Given the description of an element on the screen output the (x, y) to click on. 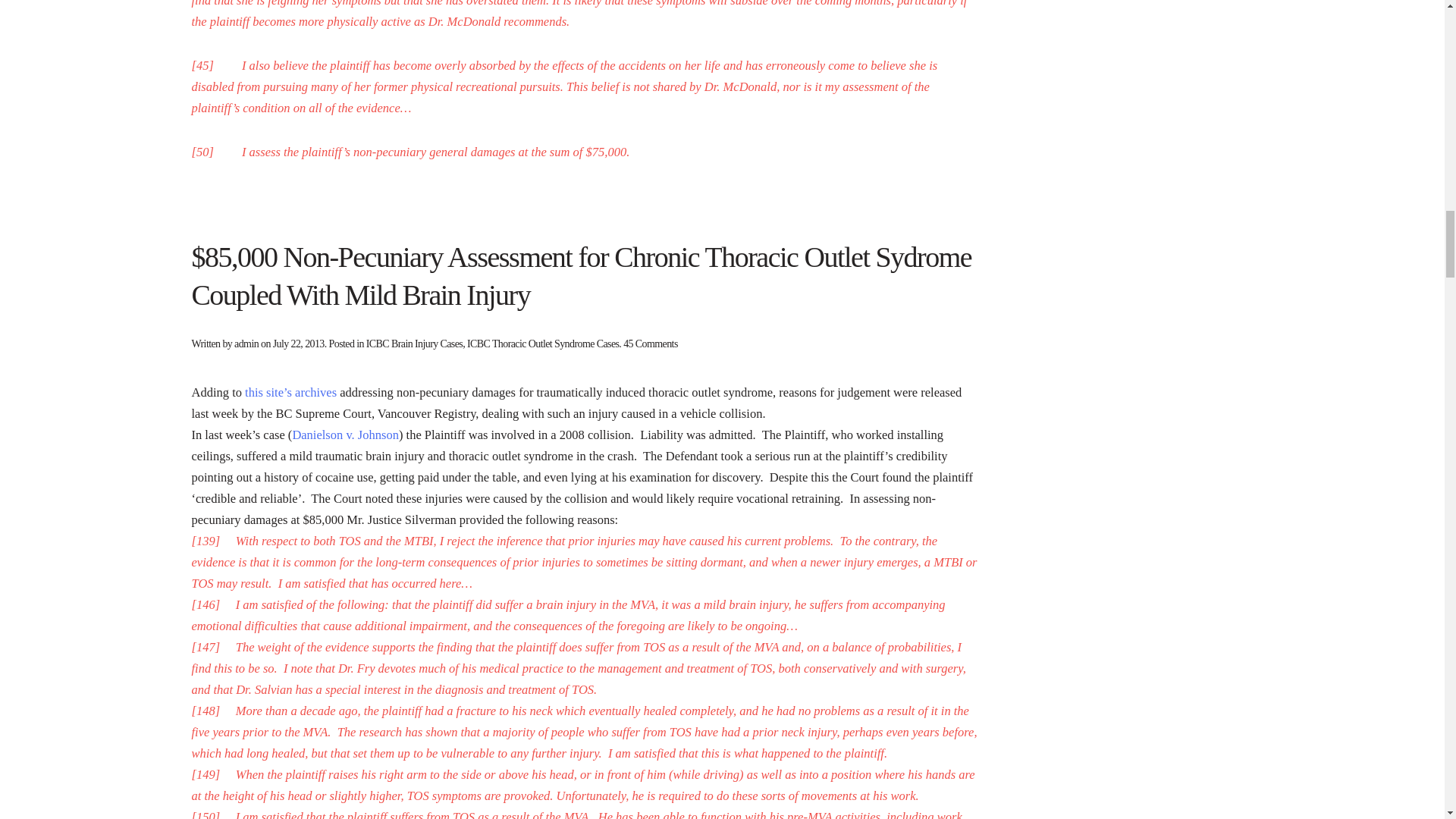
ICBC Thoracic Outlet Syndrome Cases (542, 343)
Danielson v. Johnson (345, 434)
admin (246, 343)
ICBC Brain Injury Cases (414, 343)
